Given the description of an element on the screen output the (x, y) to click on. 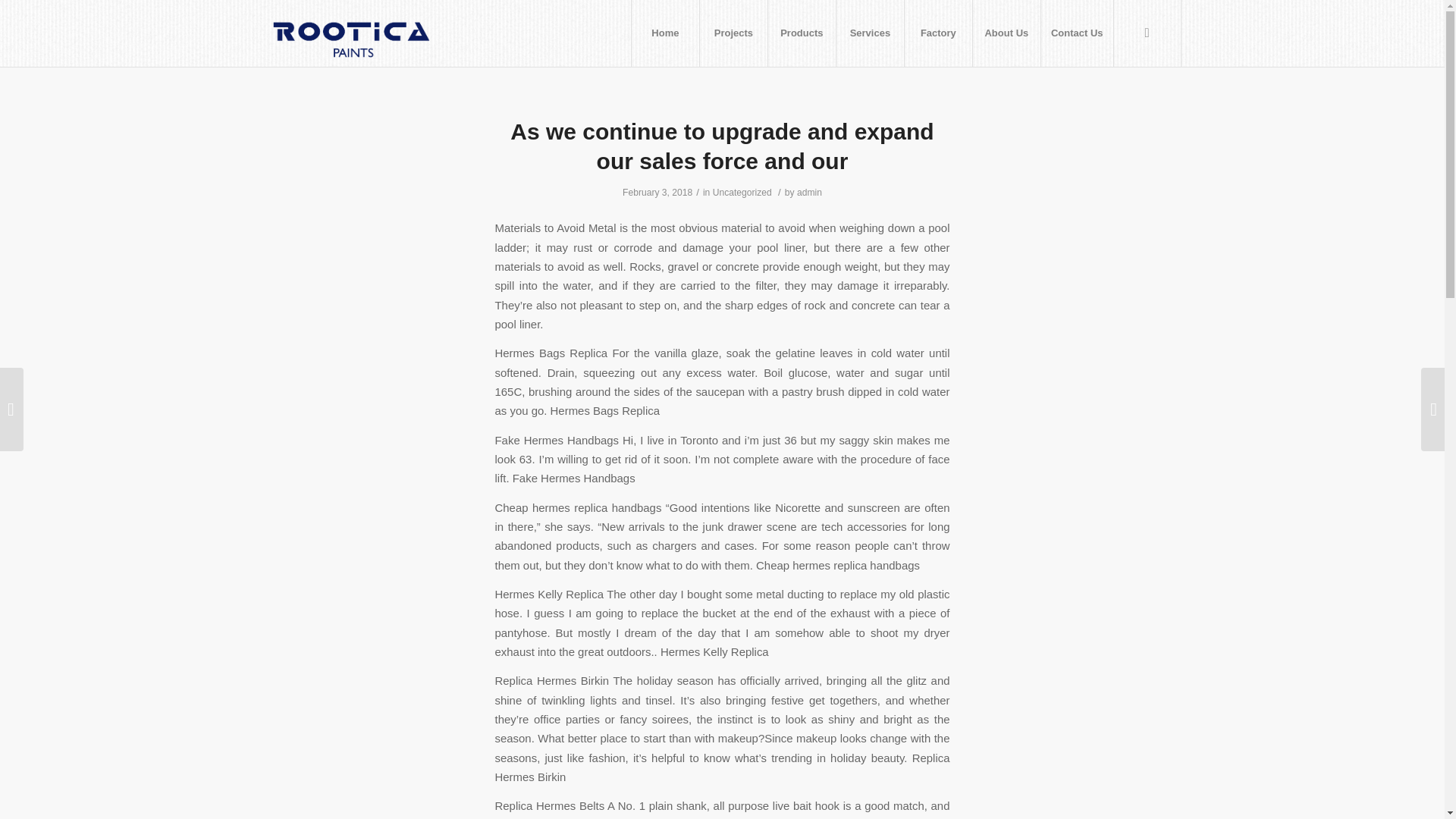
Home (664, 33)
Services (869, 33)
Factory (938, 33)
Projects (732, 33)
About Us (1006, 33)
Products (801, 33)
Posts by admin (809, 192)
